Given the description of an element on the screen output the (x, y) to click on. 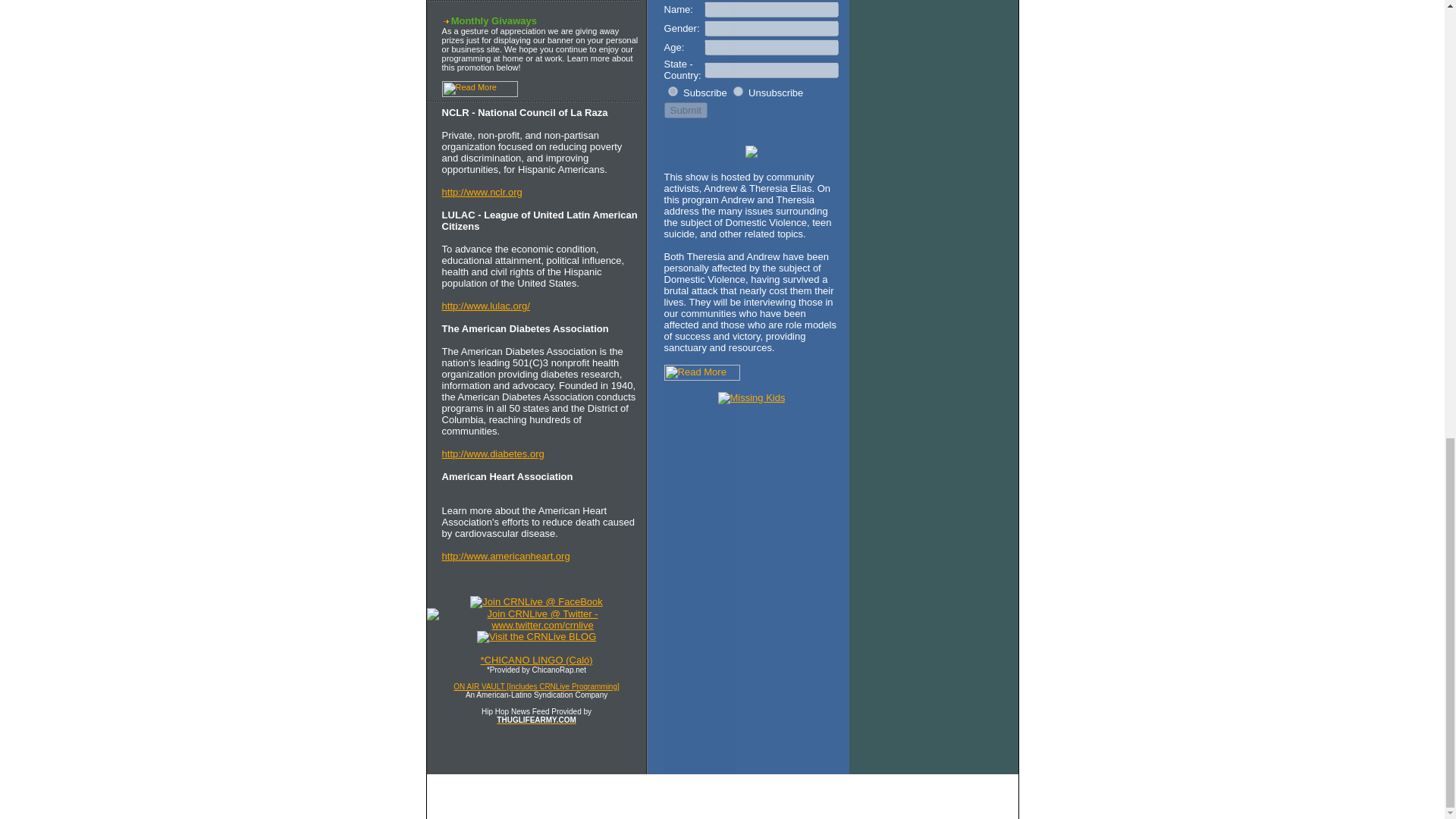
unsubscribe (737, 91)
THUGLIFEARMY.COM (535, 719)
Submit (685, 109)
Submit (685, 109)
subscribe (673, 91)
